Given the description of an element on the screen output the (x, y) to click on. 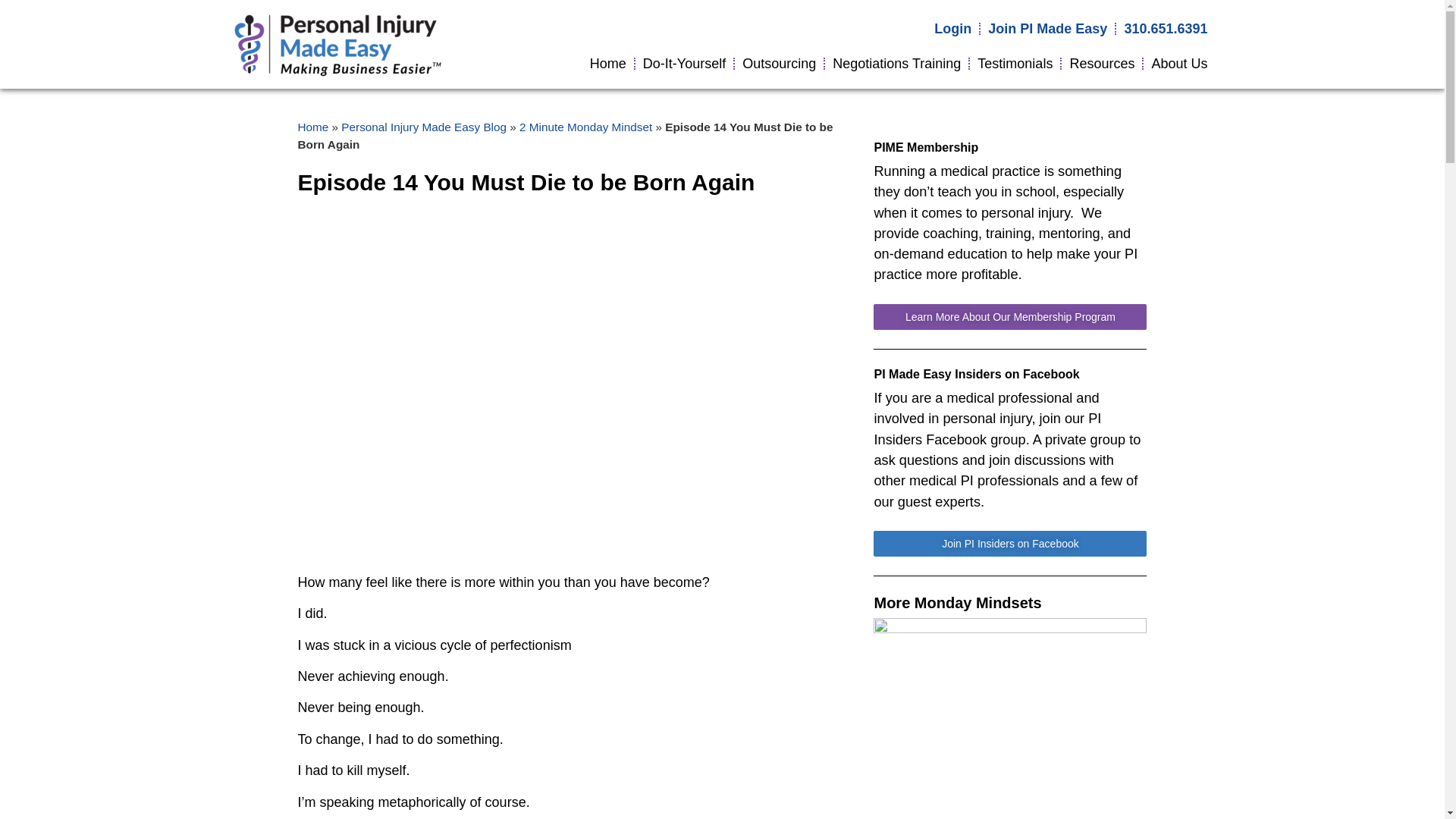
Testimonials (1014, 63)
Home (607, 63)
Negotiations Training (896, 63)
About Us (1178, 63)
310.651.6391 (1165, 28)
Outsourcing (779, 63)
Login (952, 28)
Resources (1101, 63)
Do-It-Yourself (683, 63)
Join PI Made Easy (1047, 28)
